Given the description of an element on the screen output the (x, y) to click on. 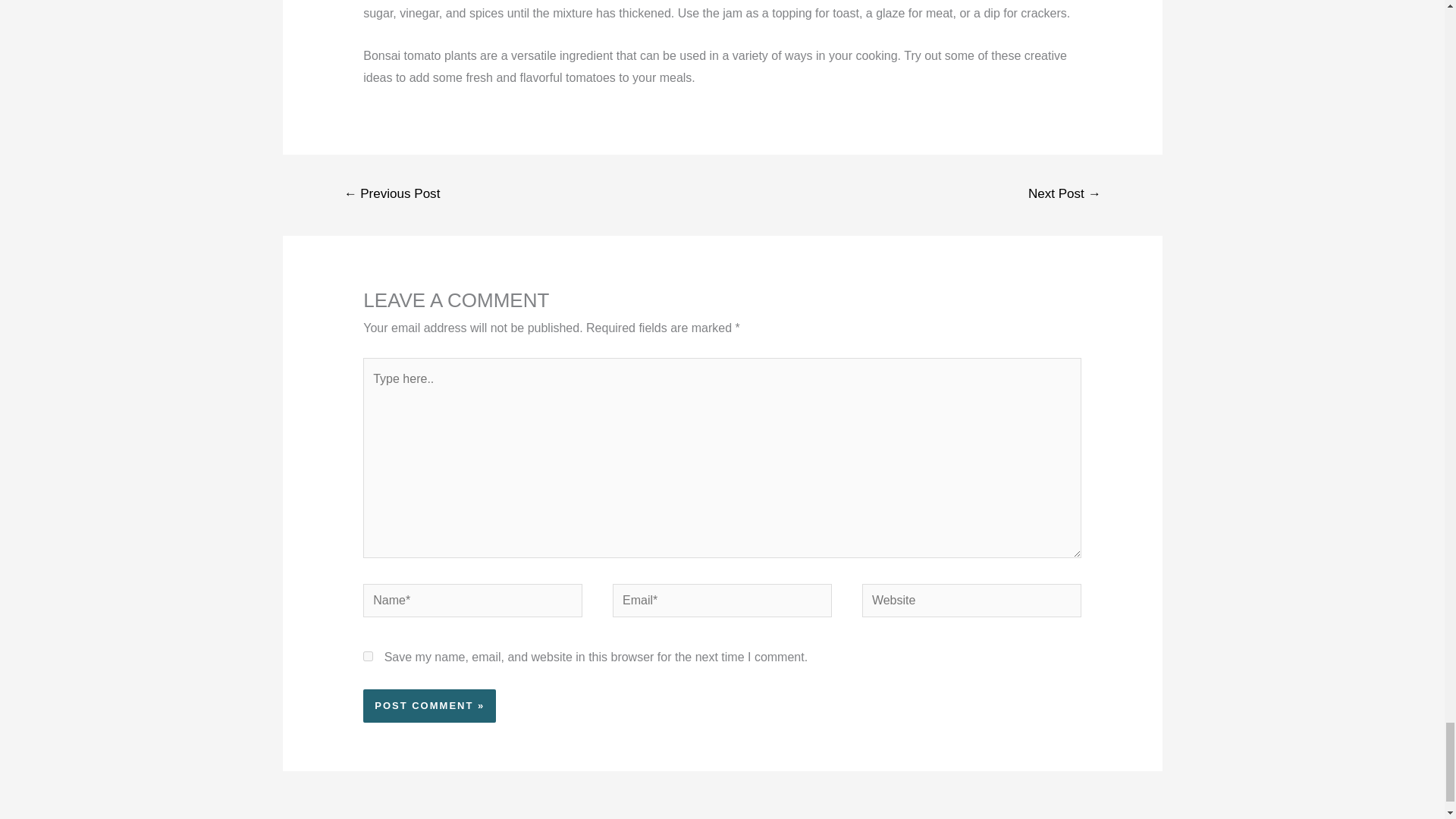
yes (367, 655)
